Given the description of an element on the screen output the (x, y) to click on. 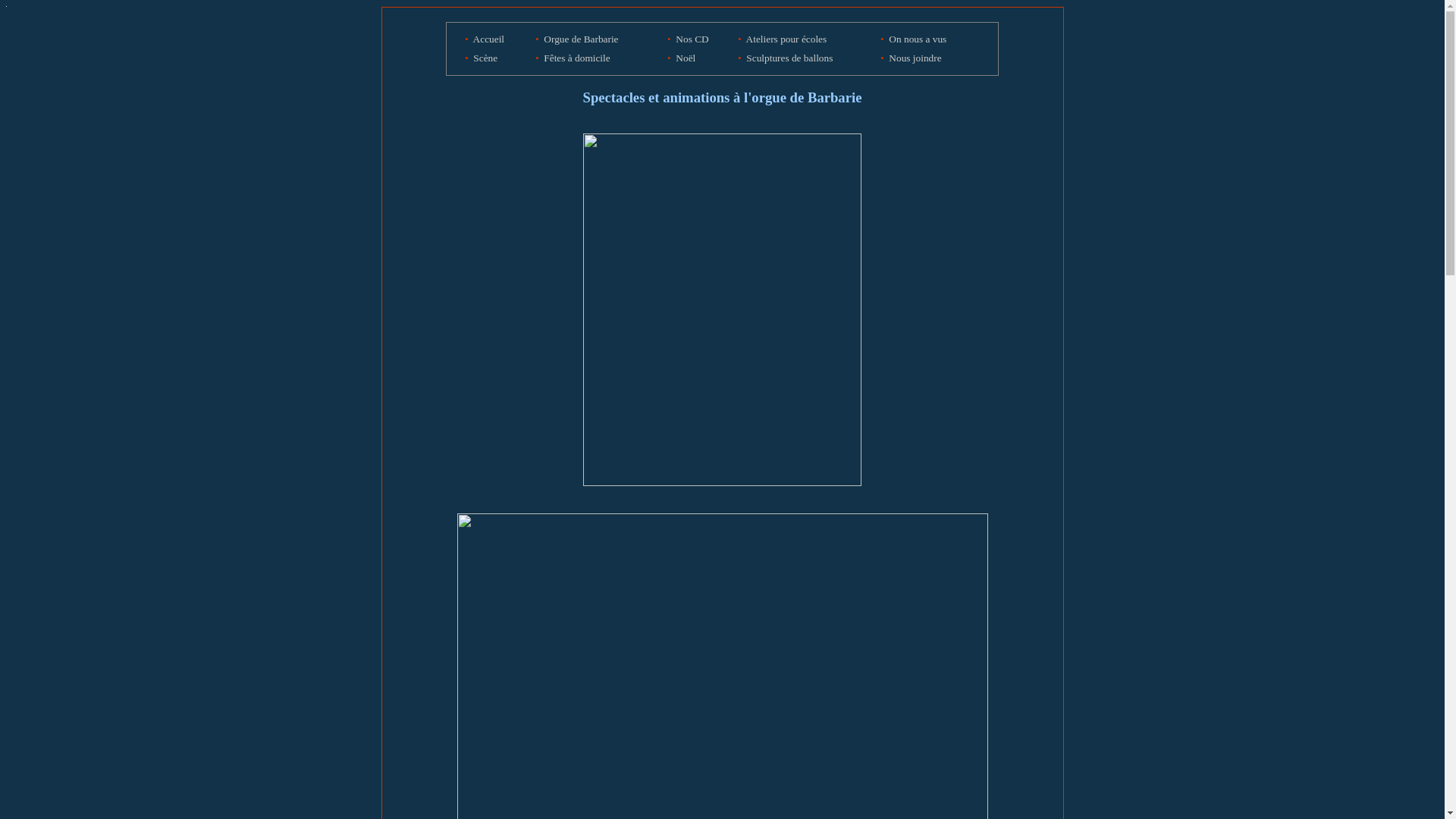
Nos CD Element type: text (691, 38)
Nous joindre Element type: text (914, 56)
Accueil Element type: text (488, 38)
Sculptures de ballons Element type: text (789, 56)
Orgue de Barbarie Element type: text (580, 38)
On nous a vus Element type: text (917, 37)
